Given the description of an element on the screen output the (x, y) to click on. 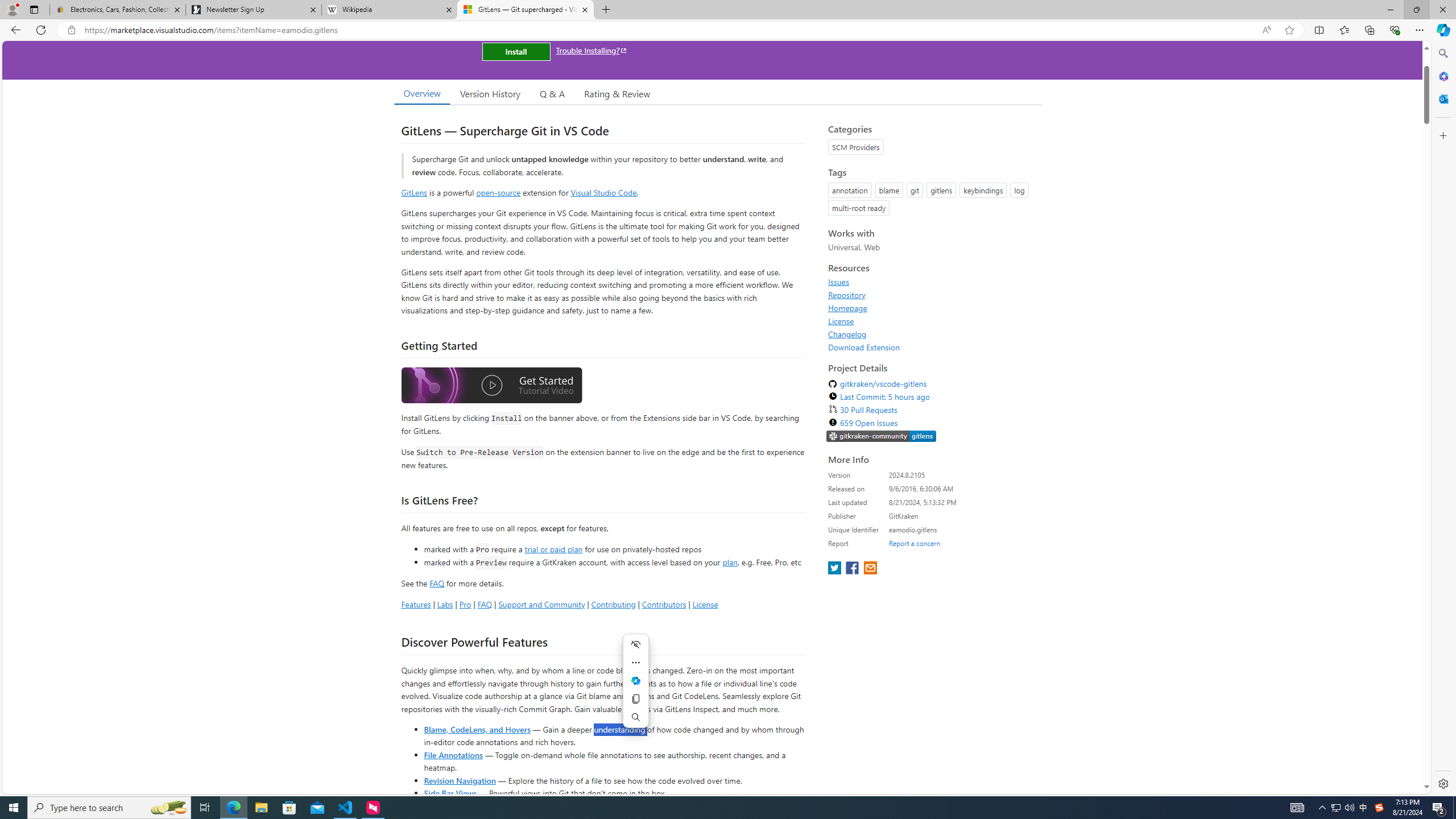
share extension on twitter (835, 568)
Newsletter Sign Up (253, 9)
Install (515, 51)
https://slack.gitkraken.com// (881, 436)
More actions (635, 662)
Changelog (931, 333)
